Given the description of an element on the screen output the (x, y) to click on. 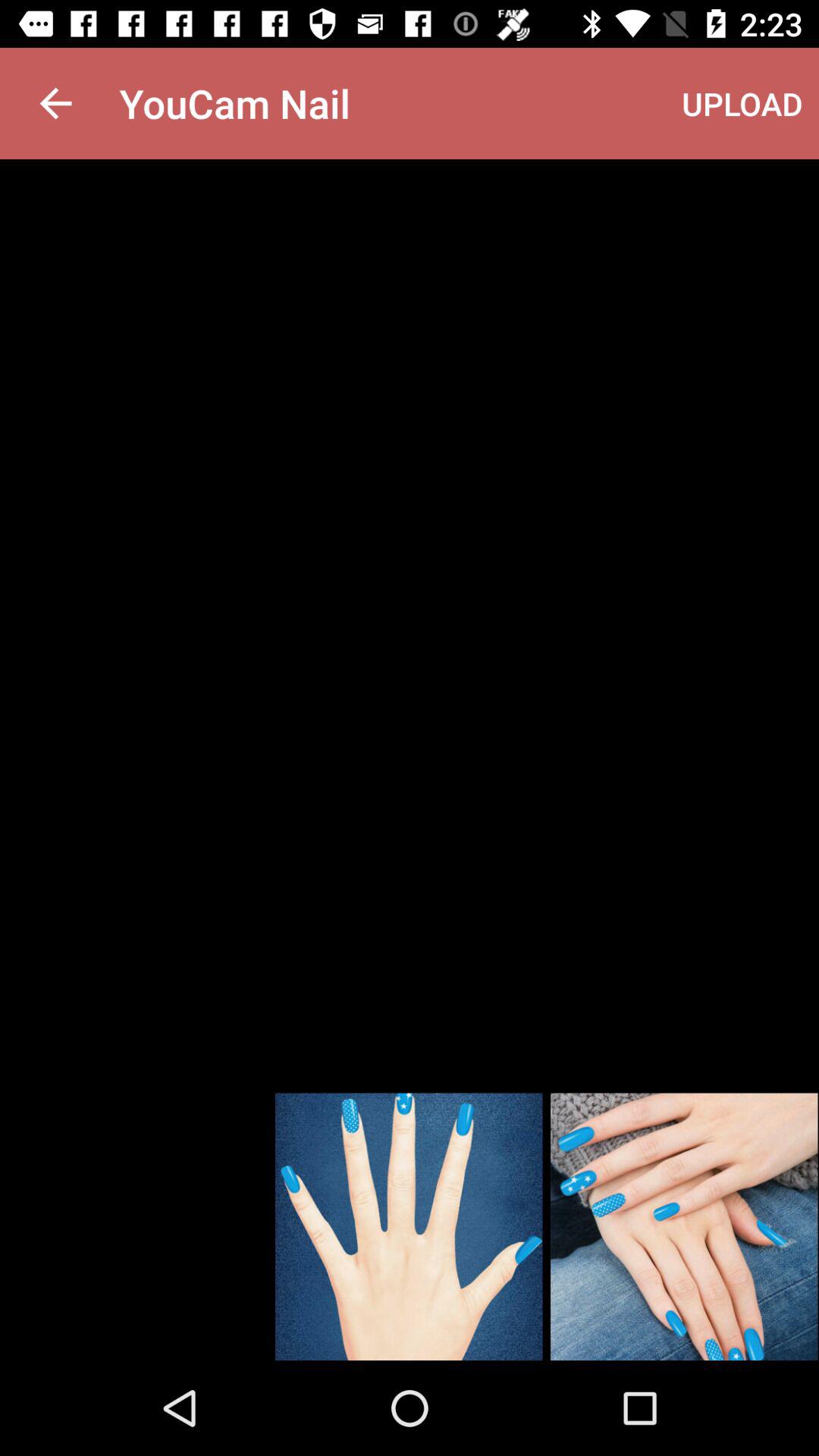
turn on upload at the top right corner (742, 103)
